Given the description of an element on the screen output the (x, y) to click on. 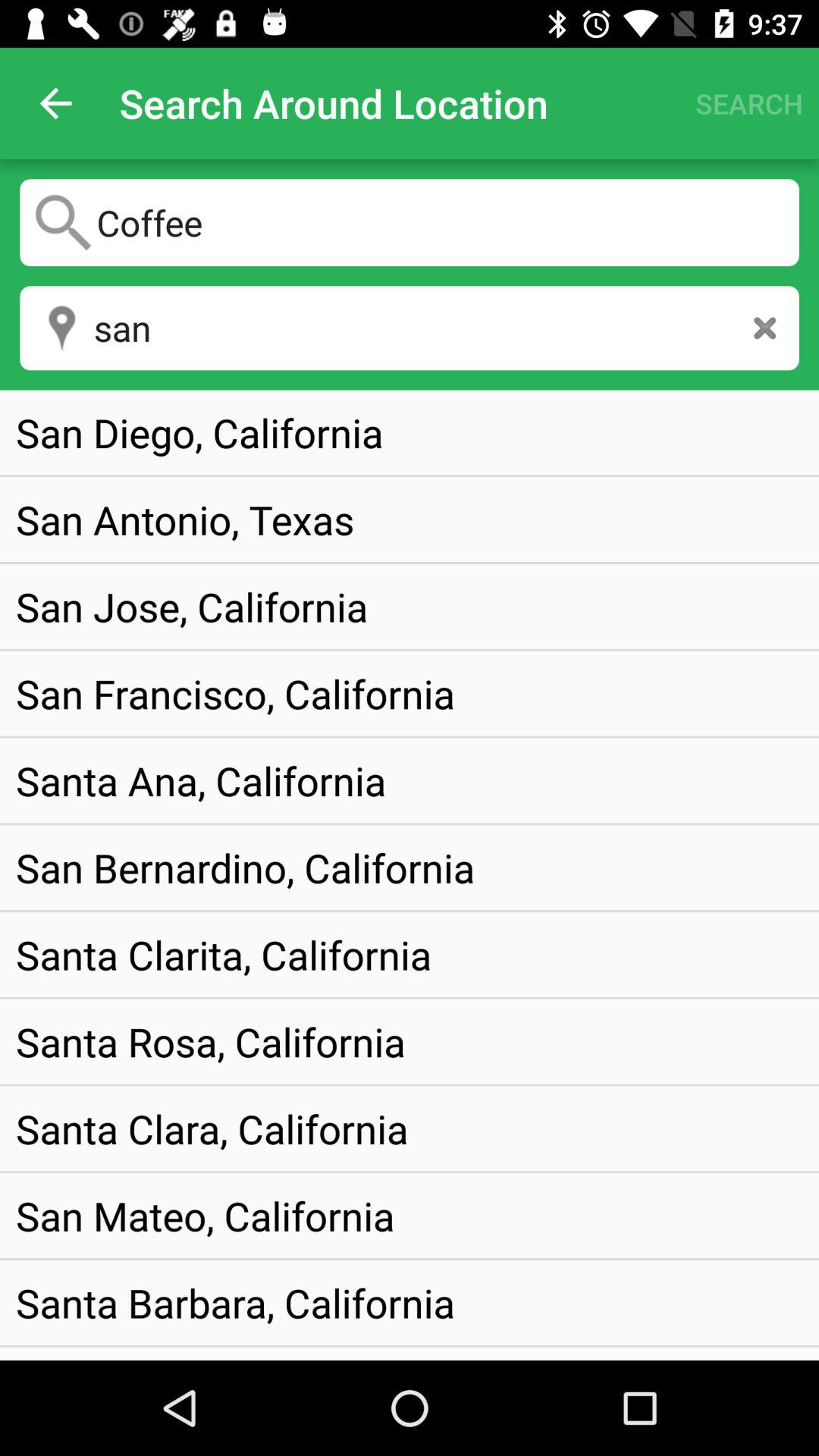
scroll until san angelo, texas icon (178, 1353)
